Given the description of an element on the screen output the (x, y) to click on. 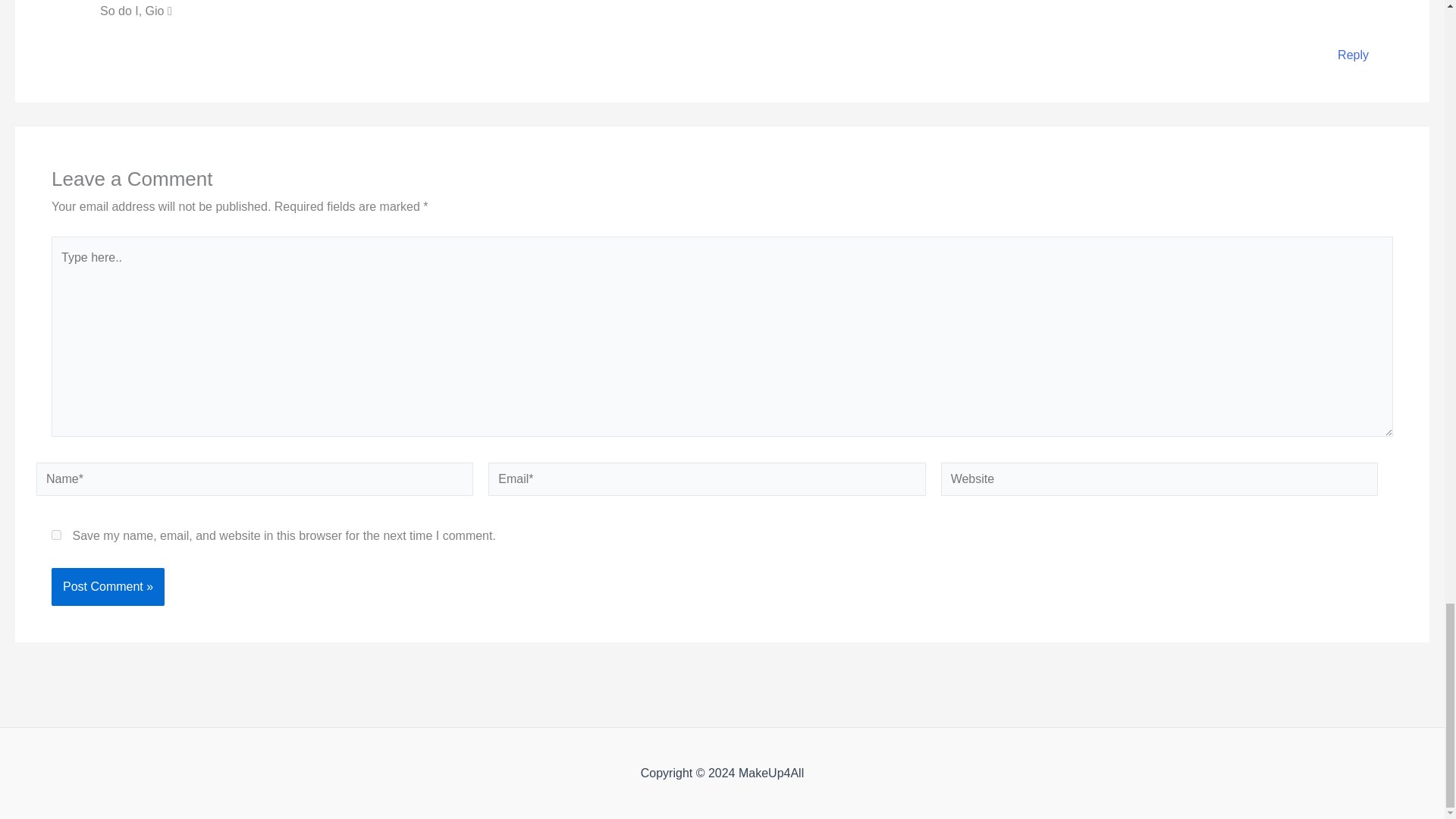
Reply (1353, 54)
yes (55, 534)
